Given the description of an element on the screen output the (x, y) to click on. 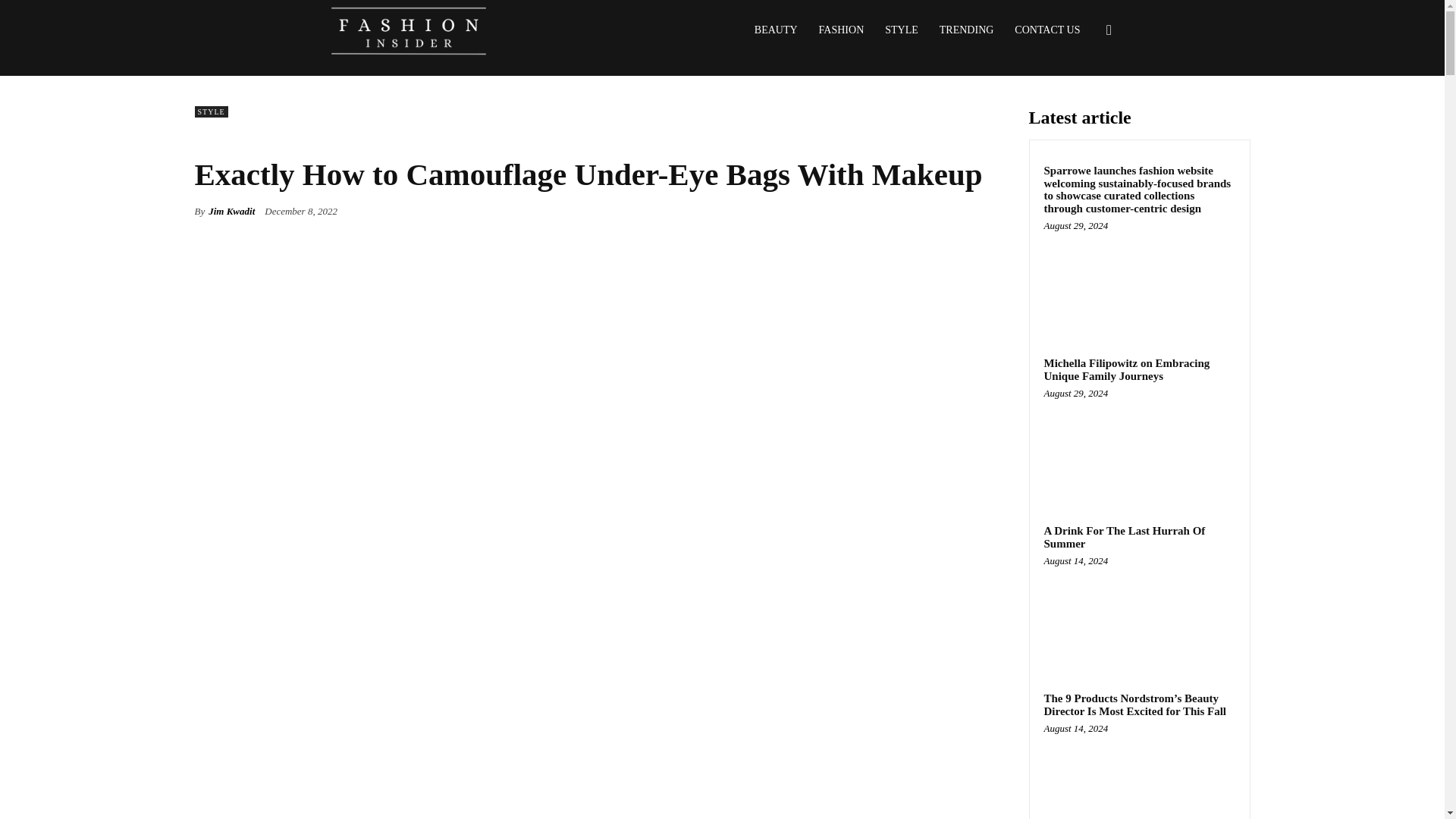
BEAUTY (776, 30)
CONTACT US (1047, 30)
FASHION (841, 30)
STYLE (901, 30)
Search (1085, 102)
Fashion Insider Mag (408, 30)
Jim Kwadit (231, 211)
TRENDING (966, 30)
STYLE (210, 111)
